Given the description of an element on the screen output the (x, y) to click on. 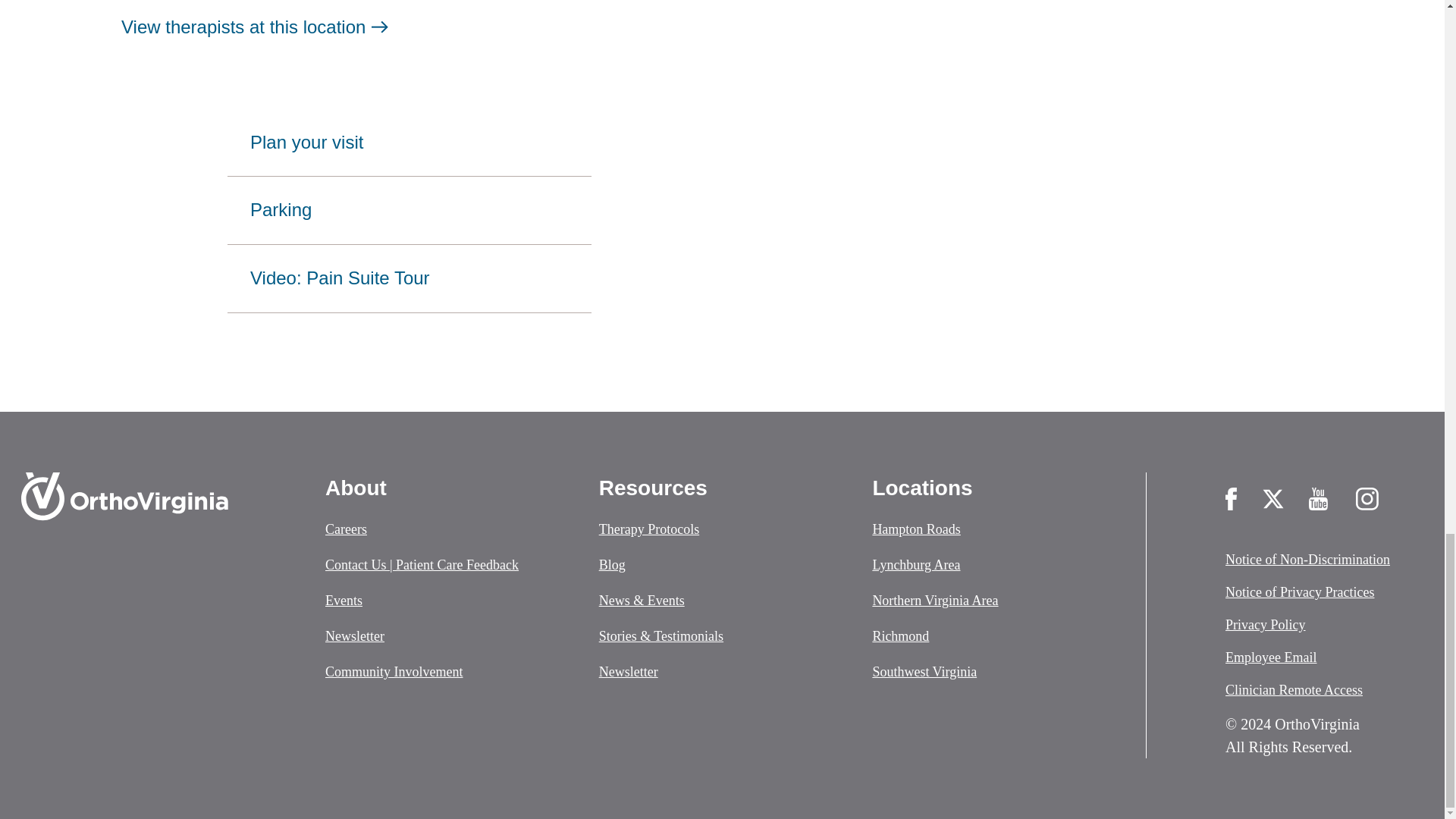
Visit us on YouTube (1320, 498)
Visit us on Instagram (1366, 498)
Visit us on X (1273, 498)
